Given the description of an element on the screen output the (x, y) to click on. 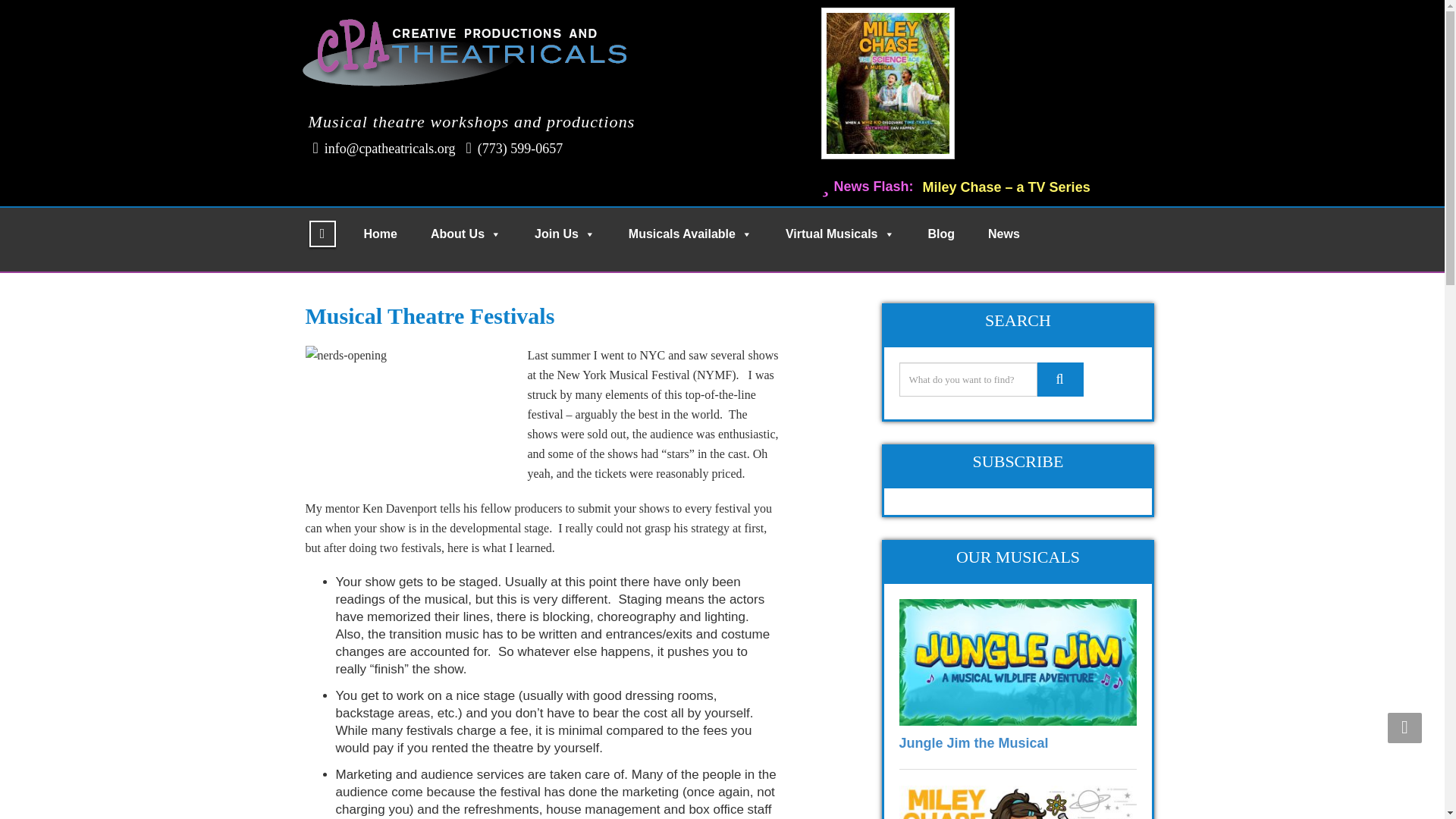
News (1003, 234)
Blog (940, 234)
About Us (466, 234)
CPA Theatricals, Inc. (468, 49)
Musicals Available (690, 234)
Virtual Musicals (840, 234)
Join Us (564, 234)
Home (380, 234)
Jungle Jim the Musical (973, 743)
Go Top (1404, 727)
Facebook (322, 233)
